Given the description of an element on the screen output the (x, y) to click on. 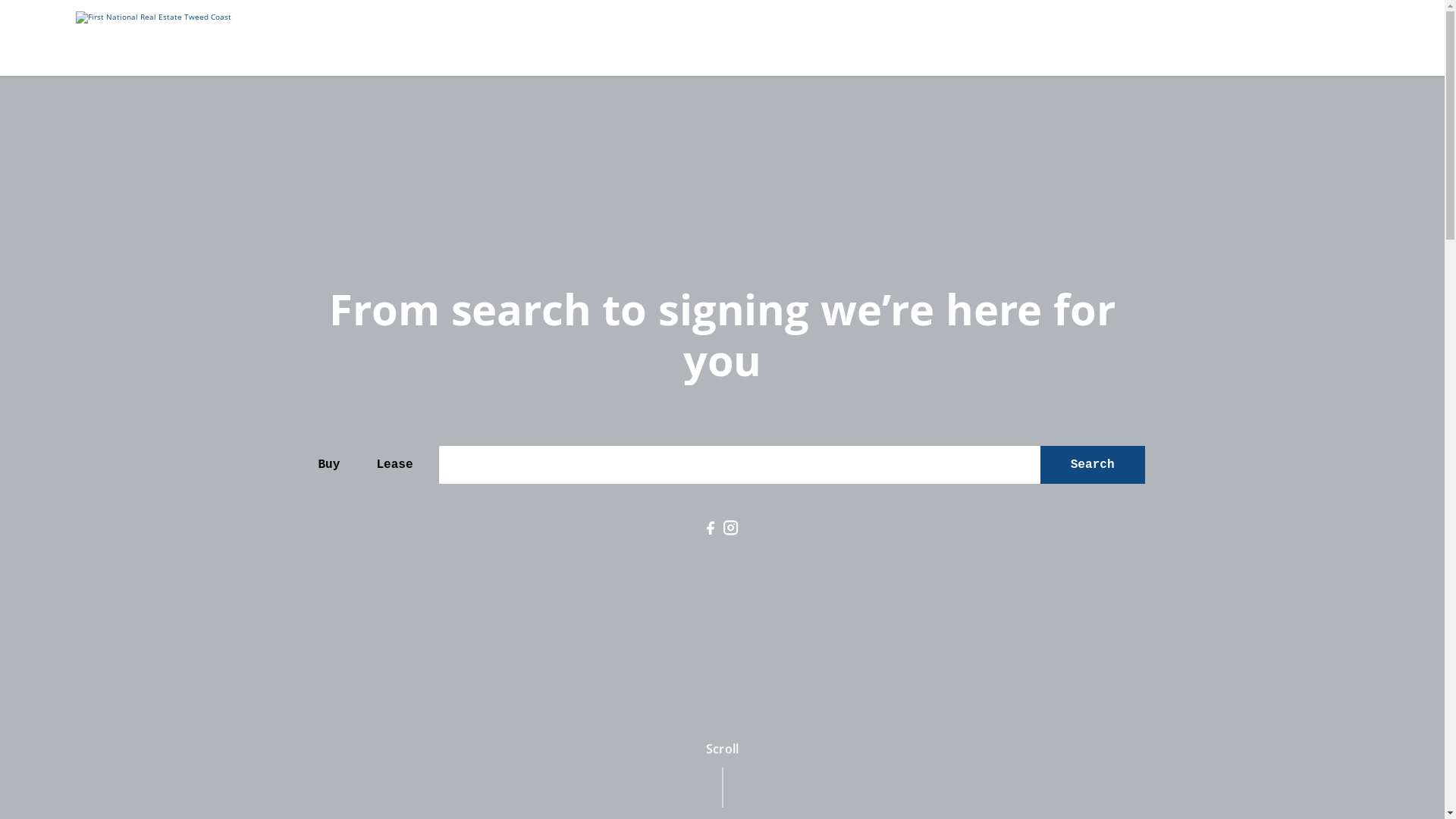
Buy Element type: text (328, 464)
Lease Element type: text (393, 464)
Search Element type: text (1092, 464)
